Given the description of an element on the screen output the (x, y) to click on. 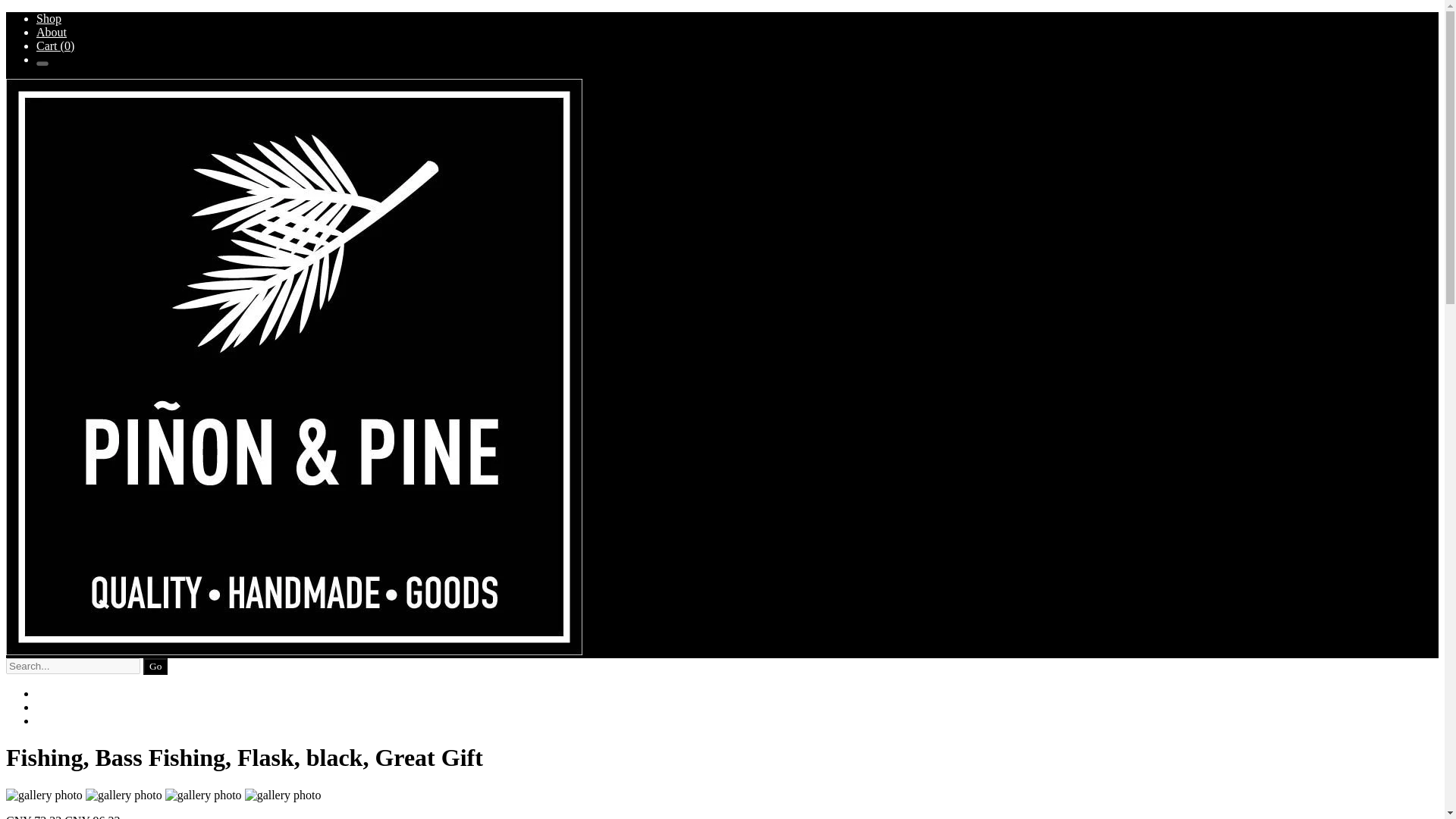
Go (154, 666)
About (51, 31)
Go (154, 666)
Shop (48, 18)
